Given the description of an element on the screen output the (x, y) to click on. 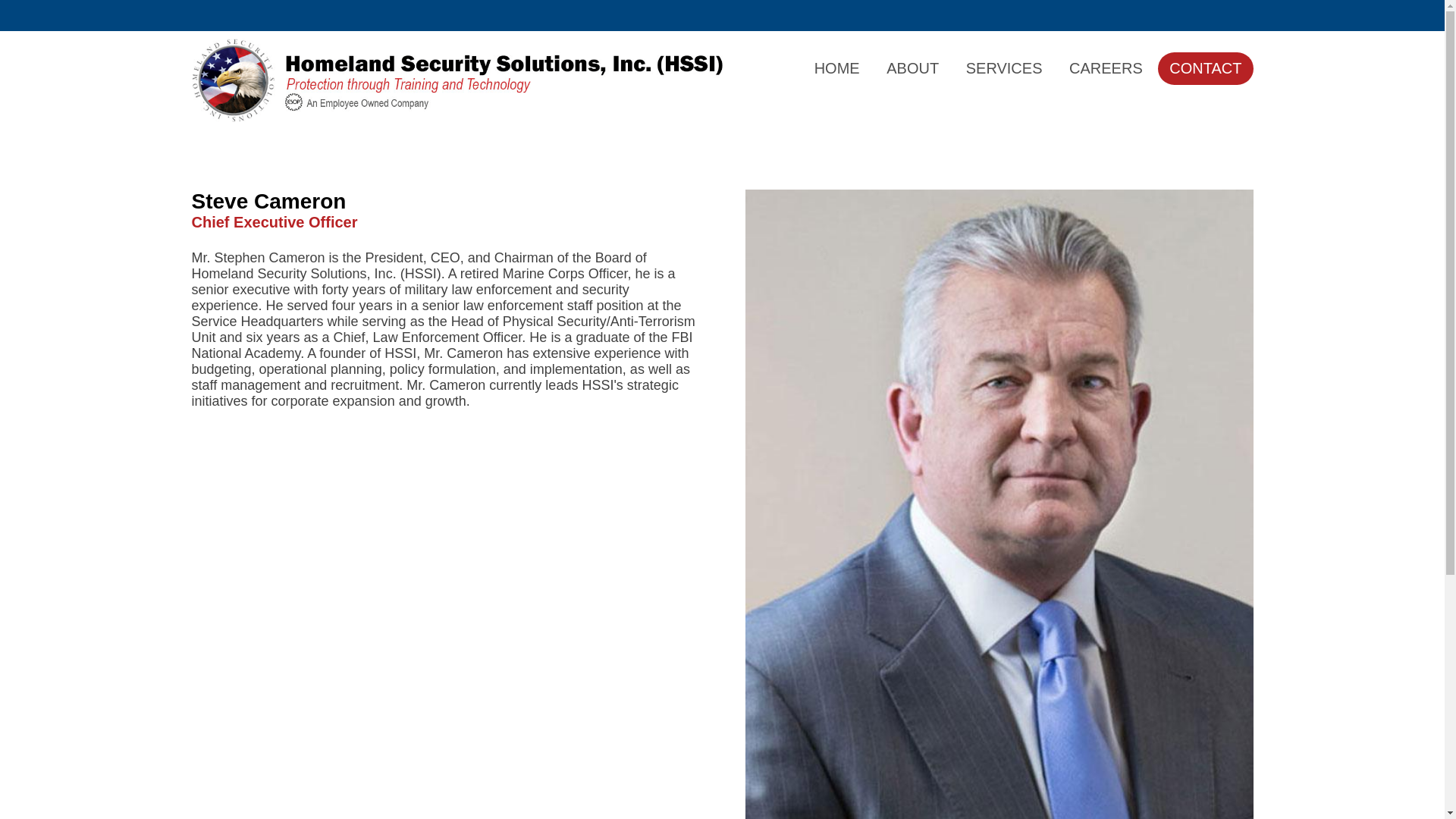
SERVICES (1004, 68)
HSSI Connect (1206, 15)
CONTACT (1204, 68)
HOME (836, 68)
ABOUT (912, 68)
CAREERS (1106, 68)
